Given the description of an element on the screen output the (x, y) to click on. 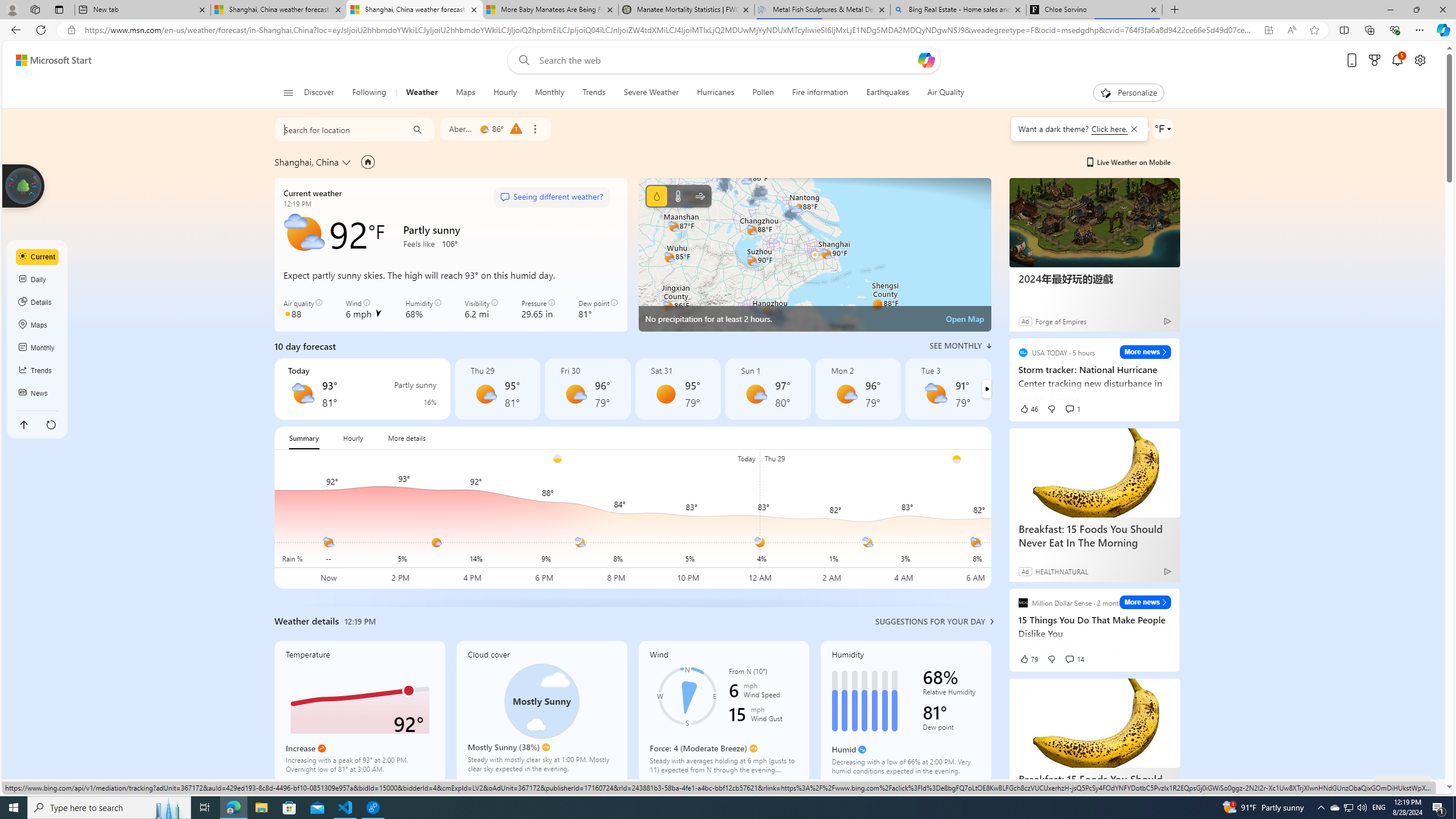
Microsoft rewards (1374, 60)
Browser essentials (1394, 29)
Feedback (1402, 784)
Hourly (504, 92)
Hourly (504, 92)
Change location (347, 161)
Switch right (986, 389)
Restore (1416, 9)
static map image of vector map (814, 254)
Minimize (1390, 9)
Partly sunny (935, 393)
Class: button-glyph (287, 92)
Discover (319, 92)
